Given the description of an element on the screen output the (x, y) to click on. 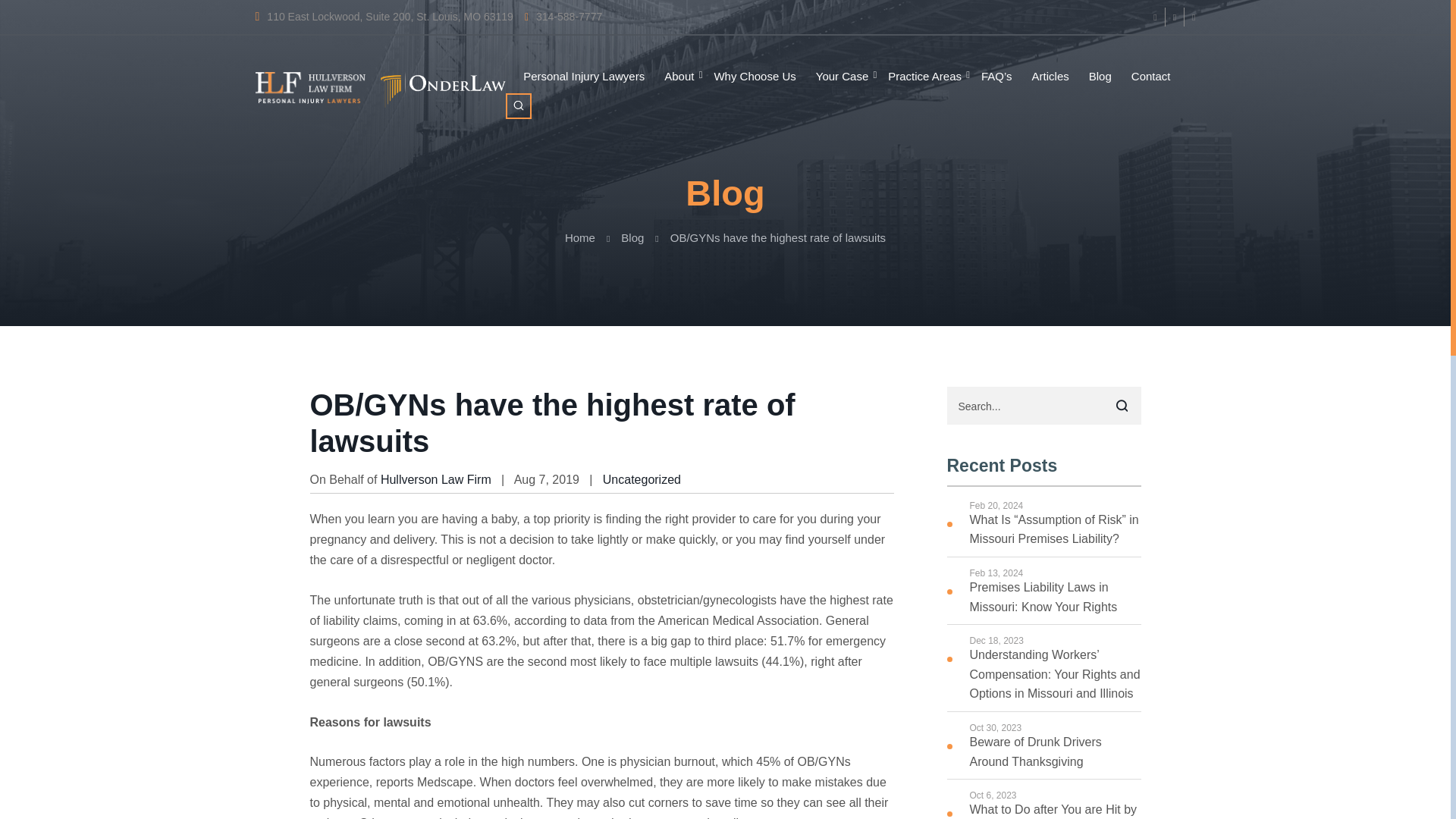
Personal Injury Lawyers (583, 76)
About (678, 76)
Go to Blog. (632, 237)
Your Case (841, 76)
Go to Hullverson Law Firm. (579, 237)
314-588-7777 (563, 16)
Why Choose Us (754, 76)
Practice Areas (924, 76)
